Given the description of an element on the screen output the (x, y) to click on. 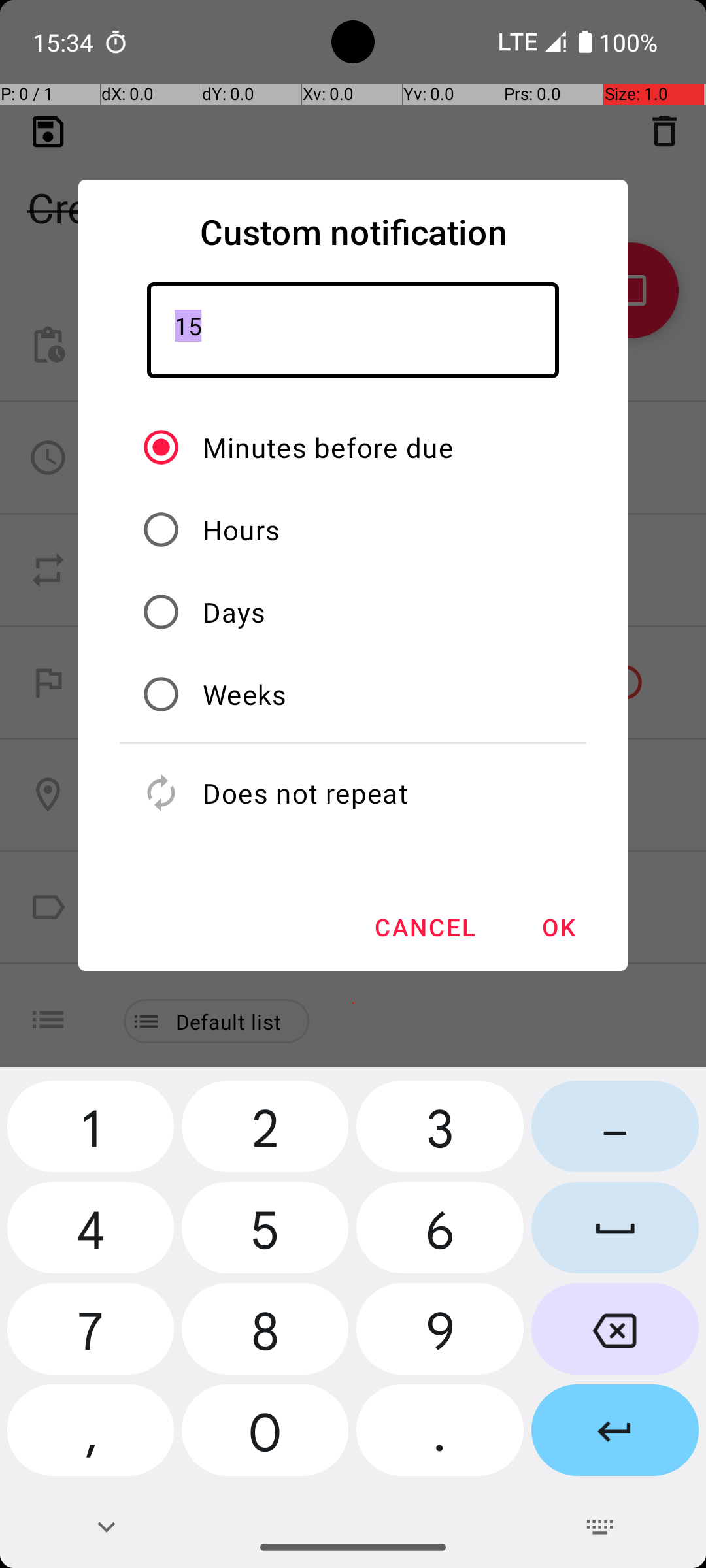
Custom notification Element type: android.widget.TextView (352, 231)
Minutes before due Element type: android.widget.TextView (327, 446)
Hours Element type: android.widget.TextView (241, 529)
Days Element type: android.widget.TextView (233, 611)
Weeks Element type: android.widget.TextView (244, 693)
